Given the description of an element on the screen output the (x, y) to click on. 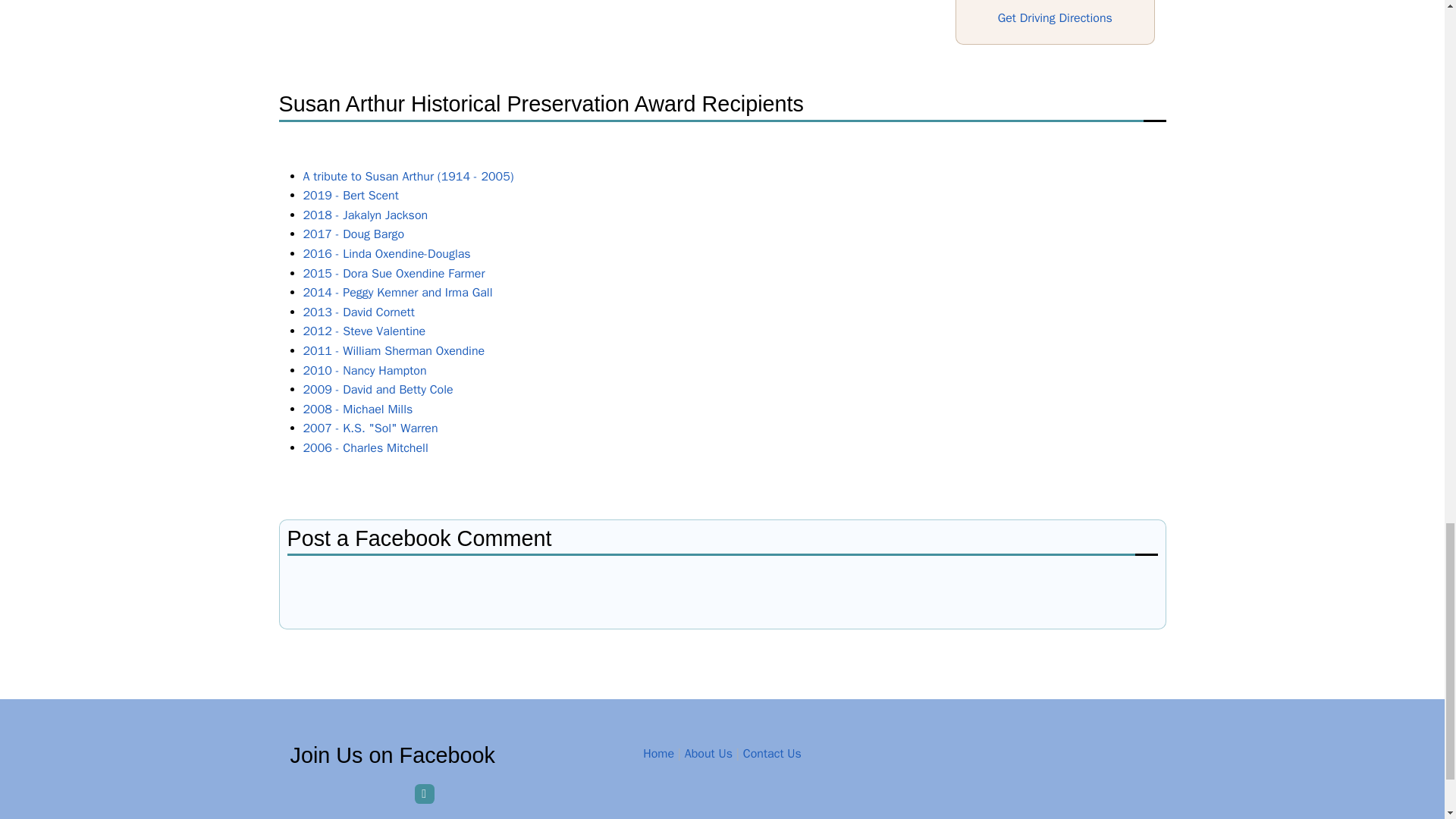
Get Driving Directions to the Knox Historical Museum (1054, 17)
Facebook (423, 793)
